Given the description of an element on the screen output the (x, y) to click on. 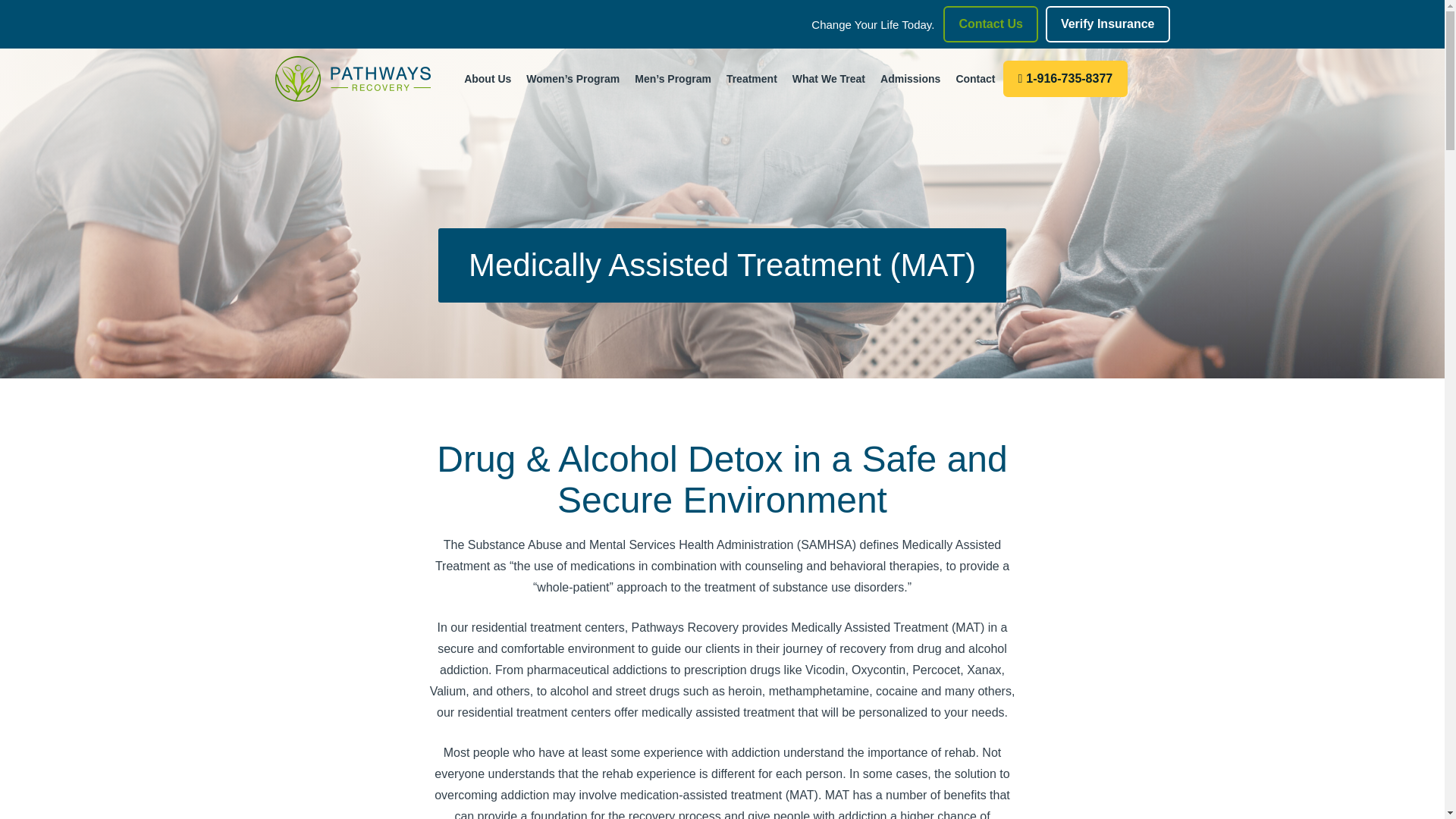
Verify Insurance (1107, 23)
Contact Us (989, 23)
About Us (487, 123)
